Given the description of an element on the screen output the (x, y) to click on. 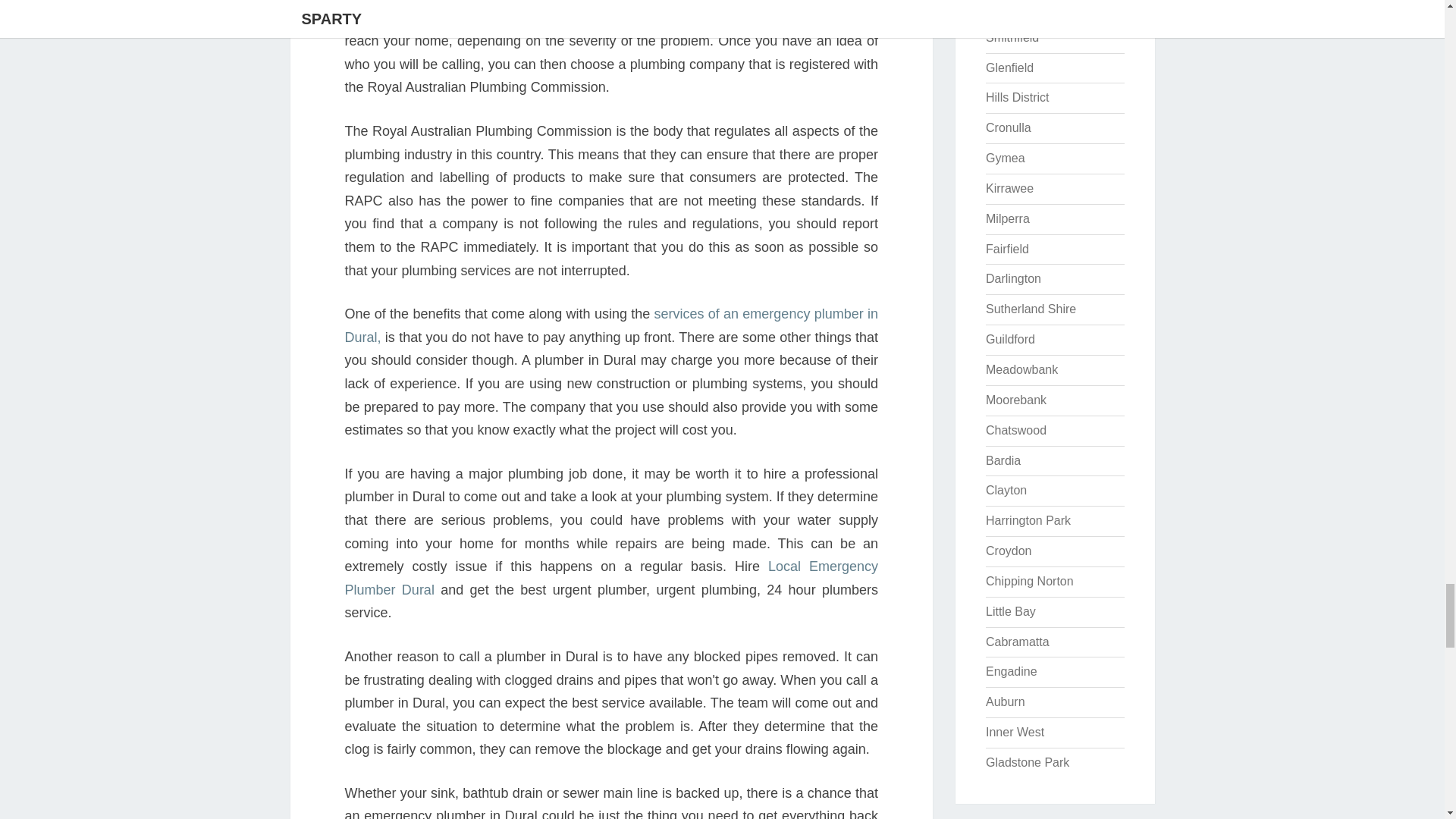
Local Emergency Plumber Dural (610, 577)
services of an emergency plumber in Dural, (610, 325)
